Given the description of an element on the screen output the (x, y) to click on. 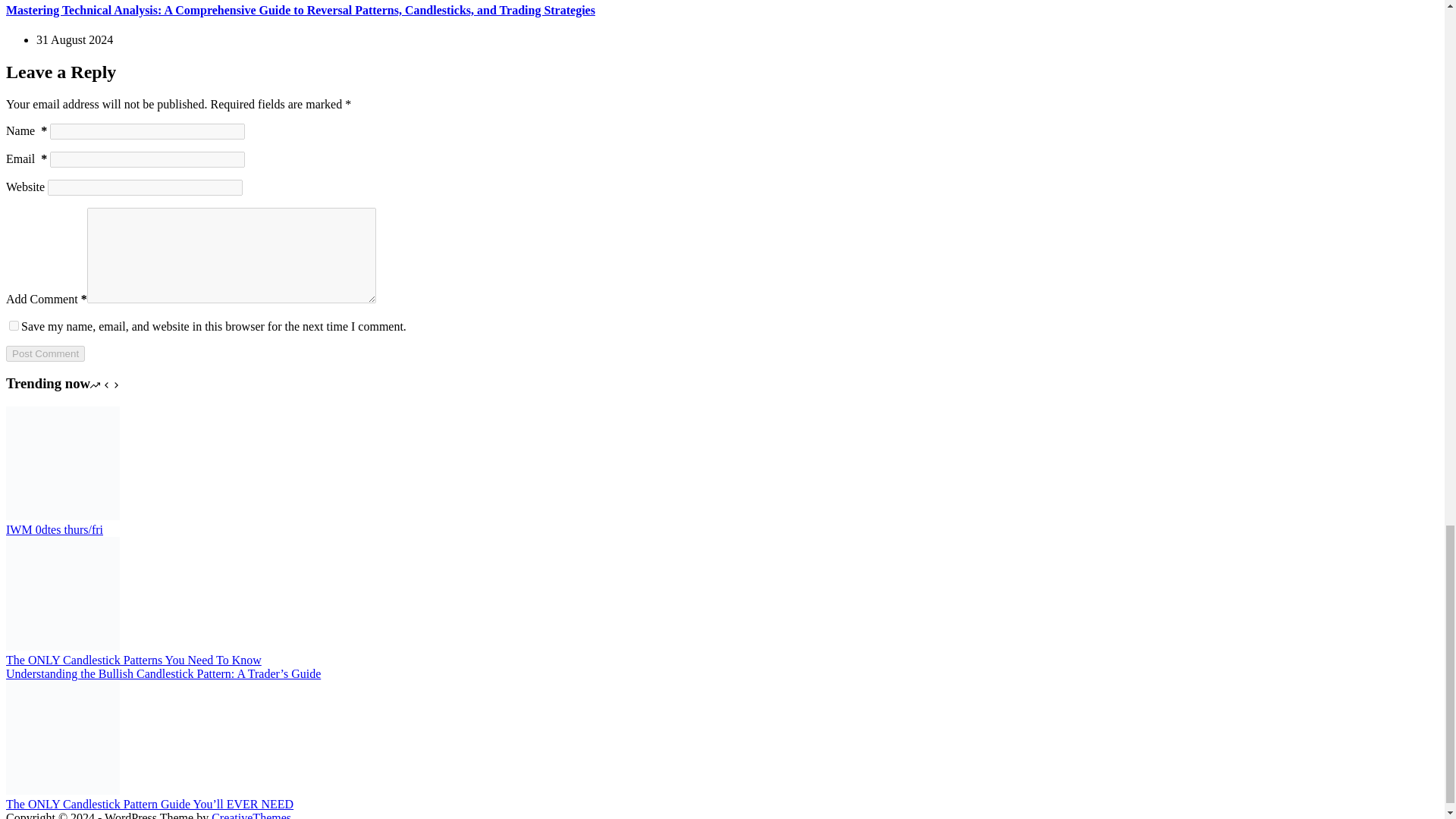
yes (13, 325)
Post Comment (44, 353)
